Given the description of an element on the screen output the (x, y) to click on. 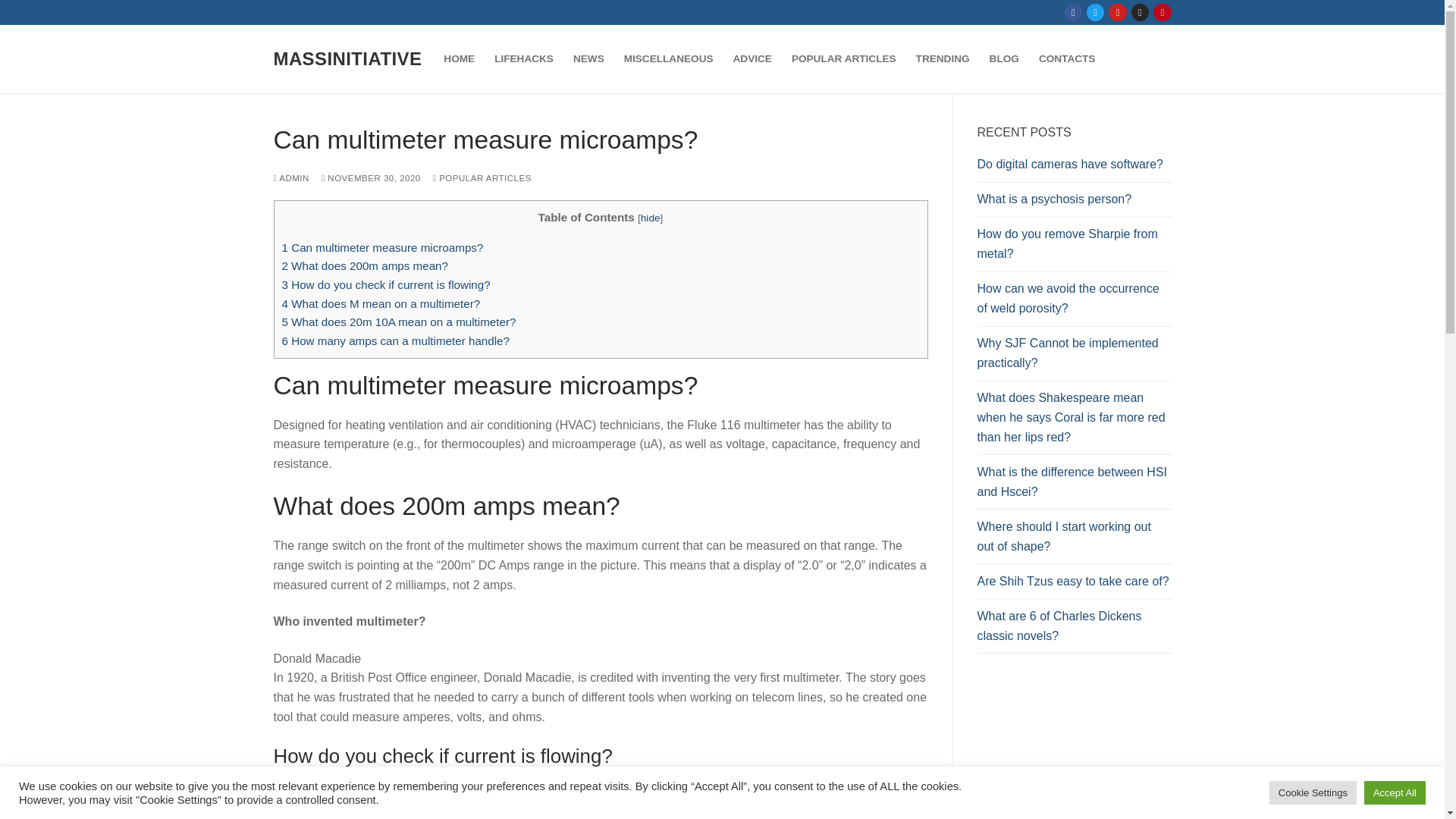
ADVICE (752, 59)
Youtube (1117, 12)
POPULAR ARTICLES (481, 177)
MASSINITIATIVE (347, 58)
5 What does 20m 10A mean on a multimeter? (399, 321)
NOVEMBER 30, 2020 (370, 177)
Pinterest (1162, 12)
6 How many amps can a multimeter handle? (396, 340)
2 What does 200m amps mean? (365, 265)
POPULAR ARTICLES (843, 59)
